Given the description of an element on the screen output the (x, y) to click on. 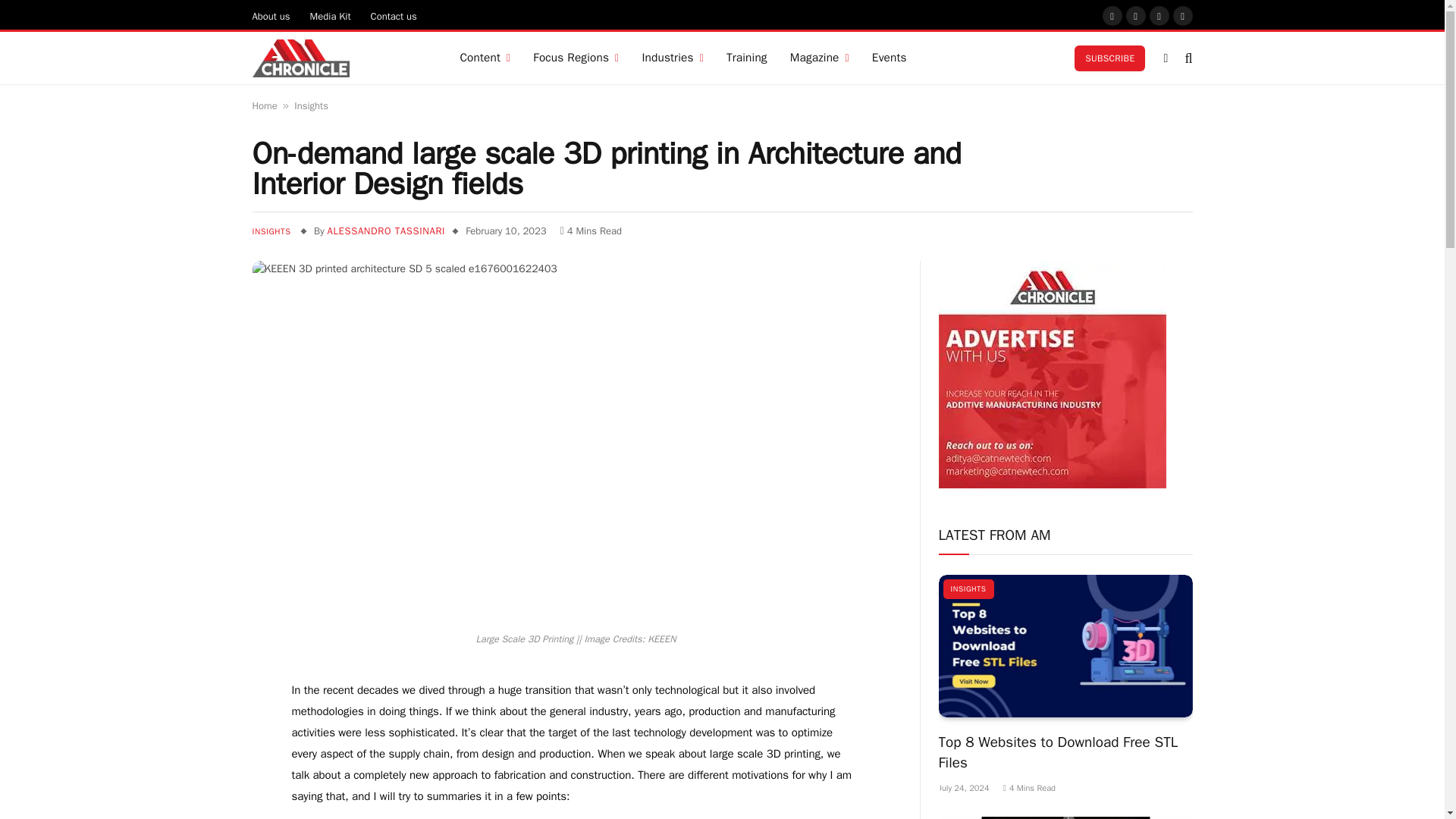
Facebook (1112, 15)
LinkedIn (1182, 15)
Content (484, 57)
Media Kit (330, 15)
About us (271, 15)
AM Chronicle (300, 58)
Contact us (393, 15)
YouTube (1159, 15)
Instagram (1135, 15)
